Given the description of an element on the screen output the (x, y) to click on. 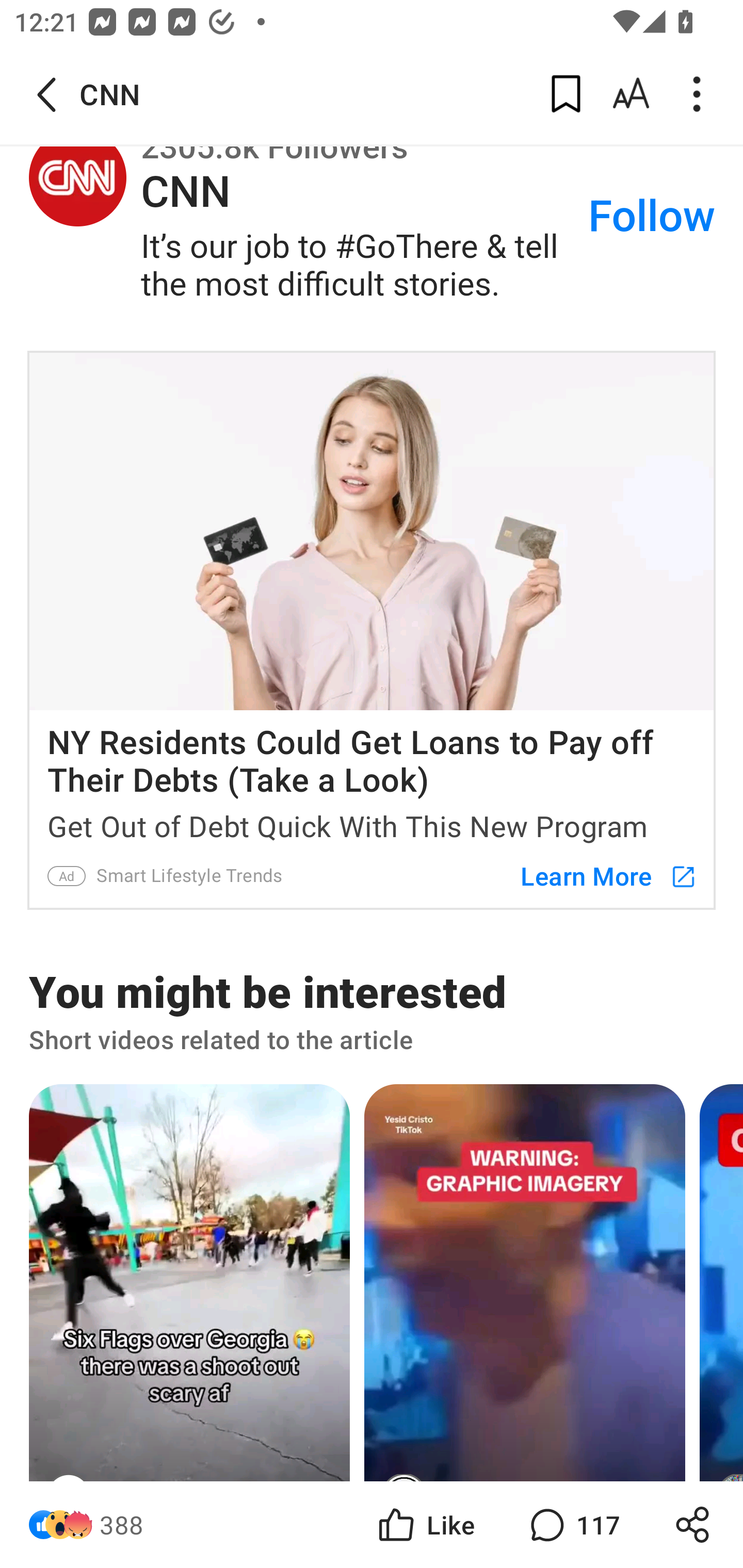
CNN (77, 179)
Follow (651, 217)
Get Out of Debt Quick With This New Program (371, 822)
Learn More (598, 875)
Smart Lifestyle Trends (189, 875)
388 (121, 1524)
Like (425, 1524)
117 (572, 1524)
